Given the description of an element on the screen output the (x, y) to click on. 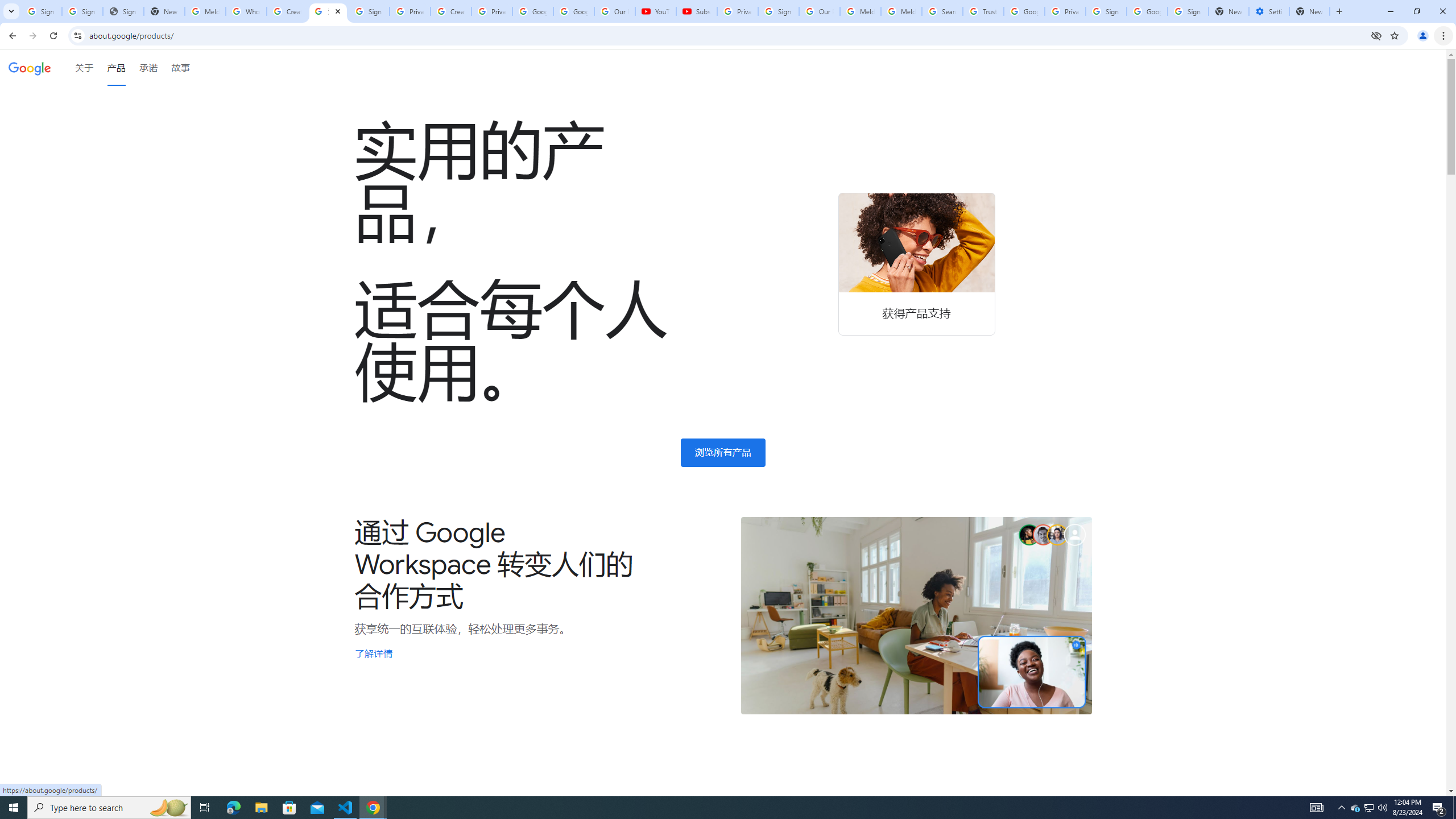
Chrome (1445, 35)
Minimize (1390, 11)
New Tab (1309, 11)
Google Account (573, 11)
Trusted Information and Content - Google Safety Center (983, 11)
Google Cybersecurity Innovations - Google Safety Center (1146, 11)
Address and search bar (726, 35)
Reload (52, 35)
New Tab (1338, 11)
